Given the description of an element on the screen output the (x, y) to click on. 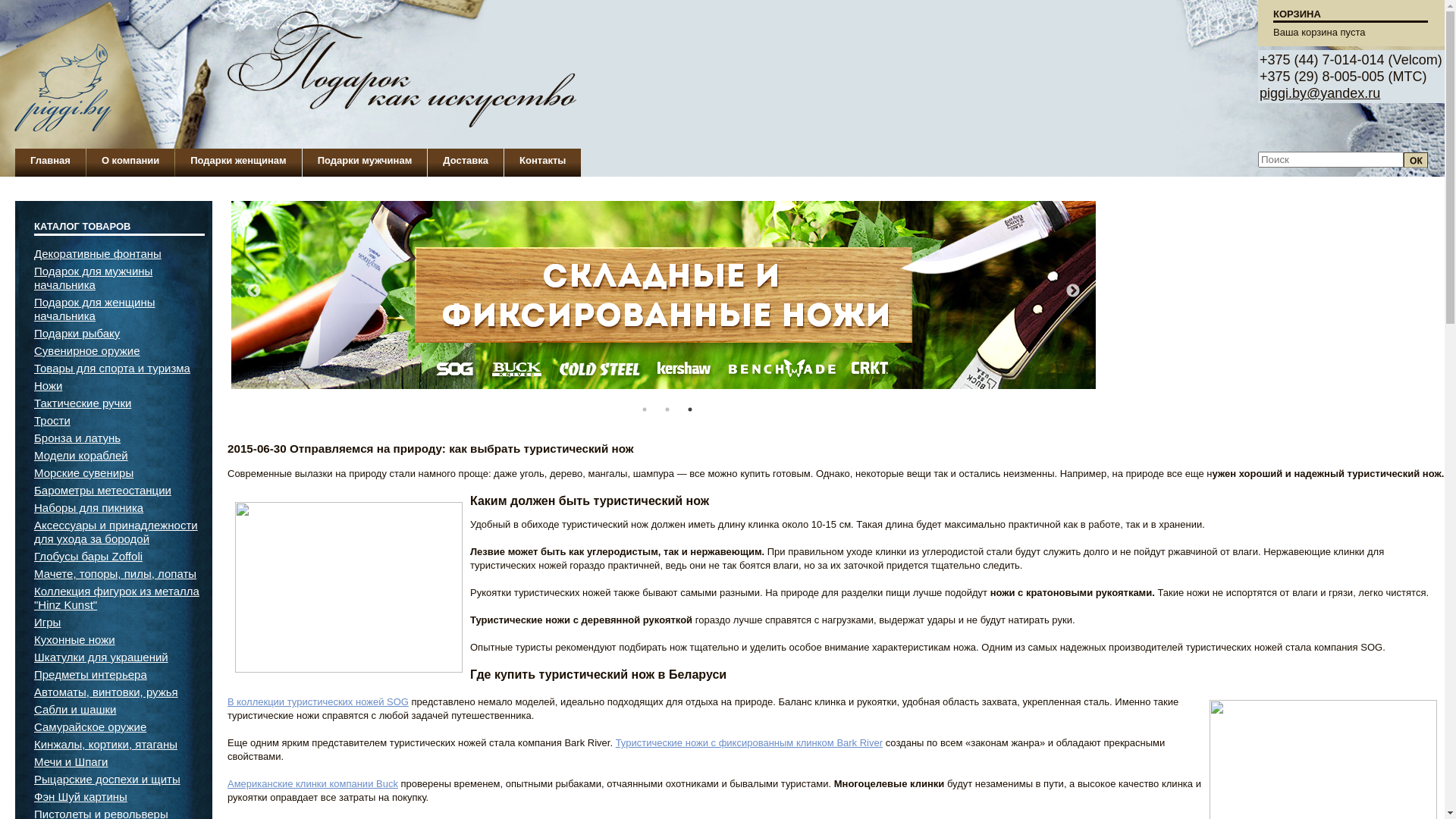
piggi.by@yandex.ru Element type: text (1319, 92)
Next Element type: text (1072, 290)
1 Element type: text (644, 409)
Previous Element type: text (253, 290)
2 Element type: text (666, 409)
3 Element type: text (689, 409)
